Given the description of an element on the screen output the (x, y) to click on. 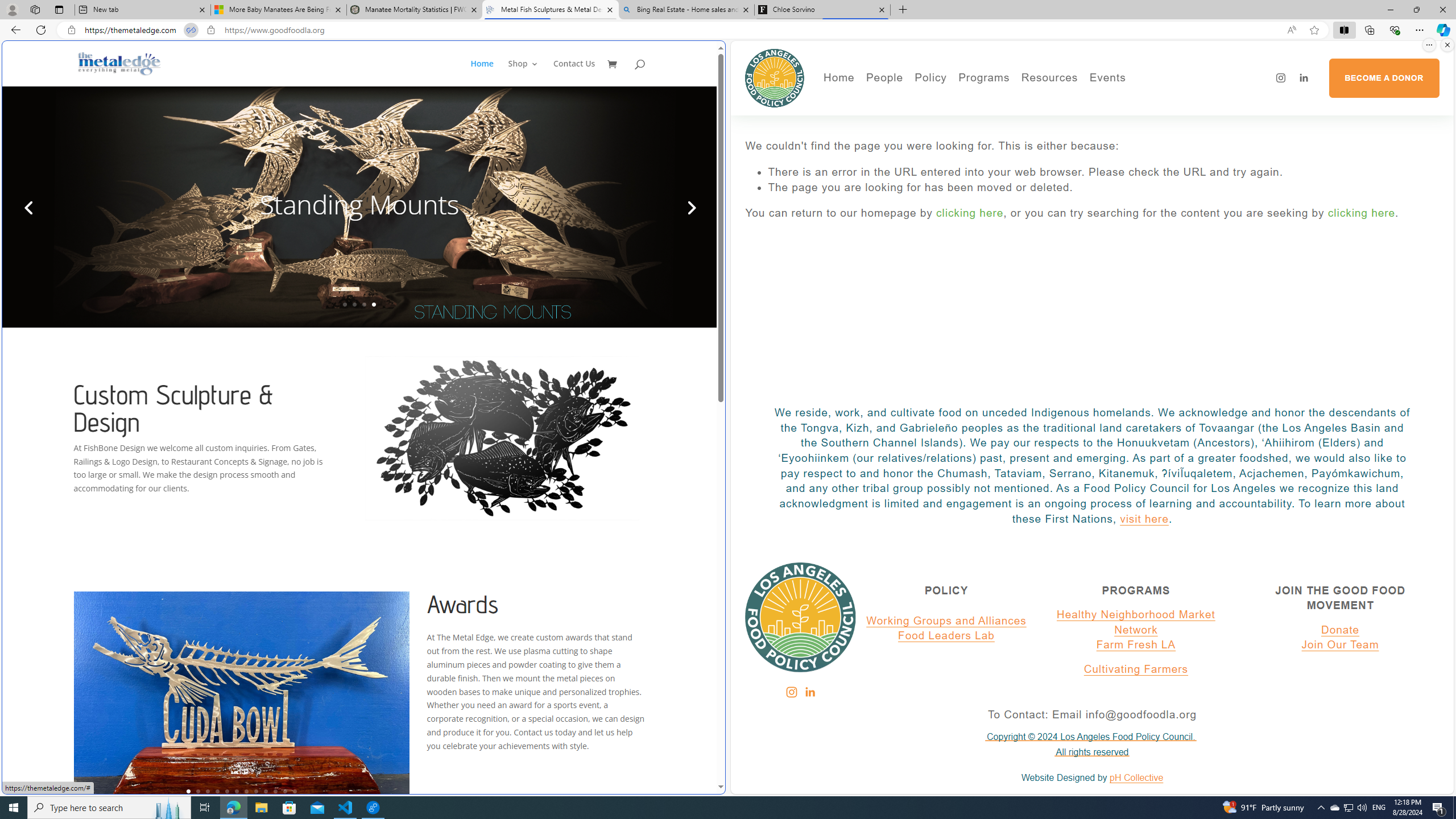
Cultivating Farmers (1015, 132)
Los Angeles Food Policy Council (774, 77)
LA Foodscapes (1146, 116)
Healthy Neighborhood Market Network (1135, 622)
Working Groups and Alliances (946, 620)
9 (265, 790)
Tabs in split screen (190, 29)
clicking here (1361, 213)
11 (284, 790)
Manatee Mortality Statistics | FWC (414, 9)
Food Rescue Macro Grants (1093, 132)
BECOME A DONOR (1383, 77)
Close split screen. (1447, 45)
